Given the description of an element on the screen output the (x, y) to click on. 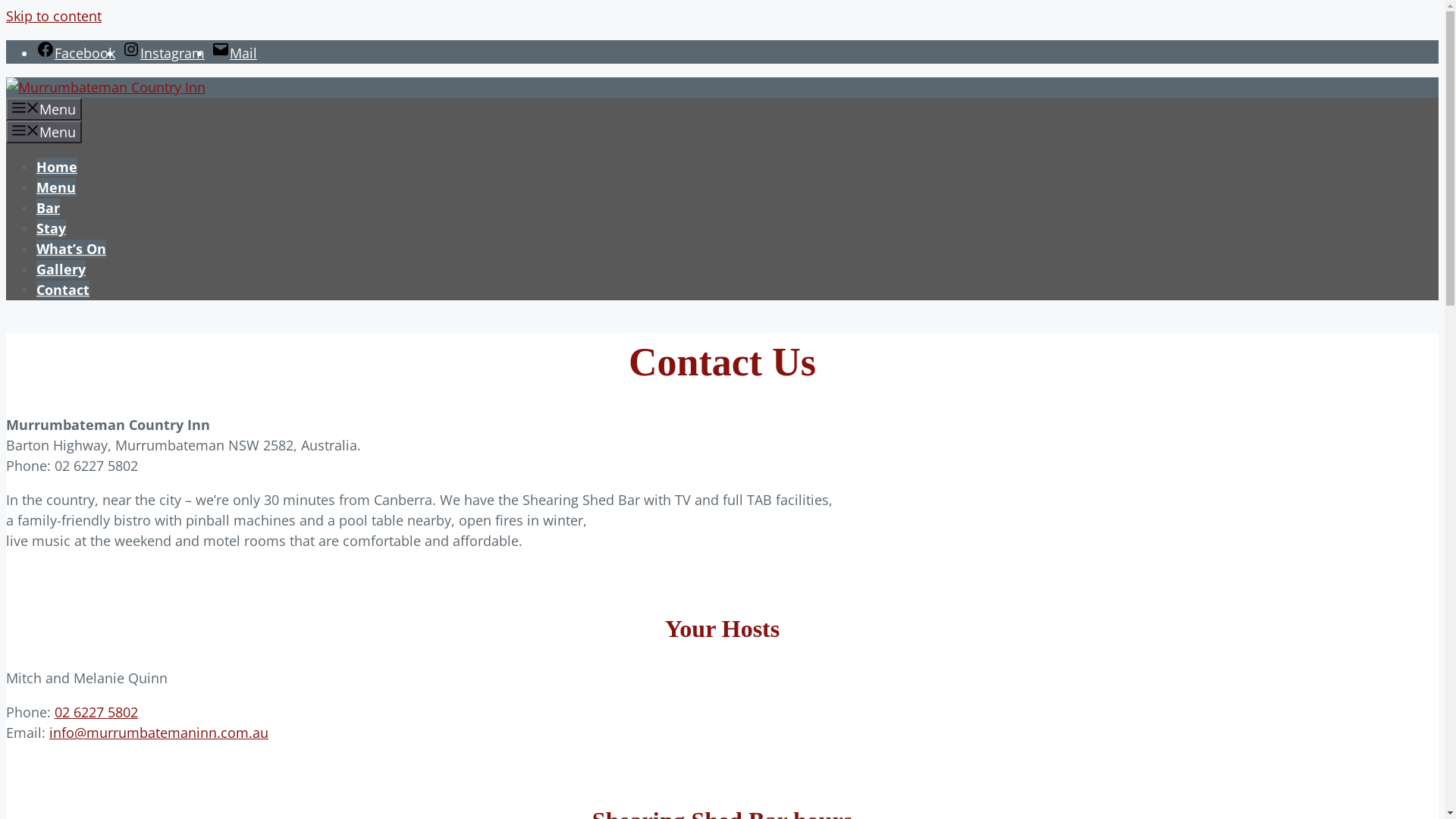
Menu Element type: text (55, 187)
Gallery Element type: text (60, 269)
Contact Element type: text (62, 289)
Murrumbateman Country Inn Element type: hover (105, 87)
Mail Element type: text (234, 52)
02 6227 5802 Element type: text (96, 711)
Menu Element type: text (43, 131)
Bar Element type: text (47, 207)
Stay Element type: text (50, 228)
Skip to content Element type: text (53, 15)
Facebook Element type: text (75, 52)
Menu Element type: text (43, 108)
info@murrumbatemaninn.com.au Element type: text (158, 732)
Murrumbateman Country Inn Element type: hover (105, 87)
Instagram Element type: text (163, 52)
Home Element type: text (56, 166)
